Given the description of an element on the screen output the (x, y) to click on. 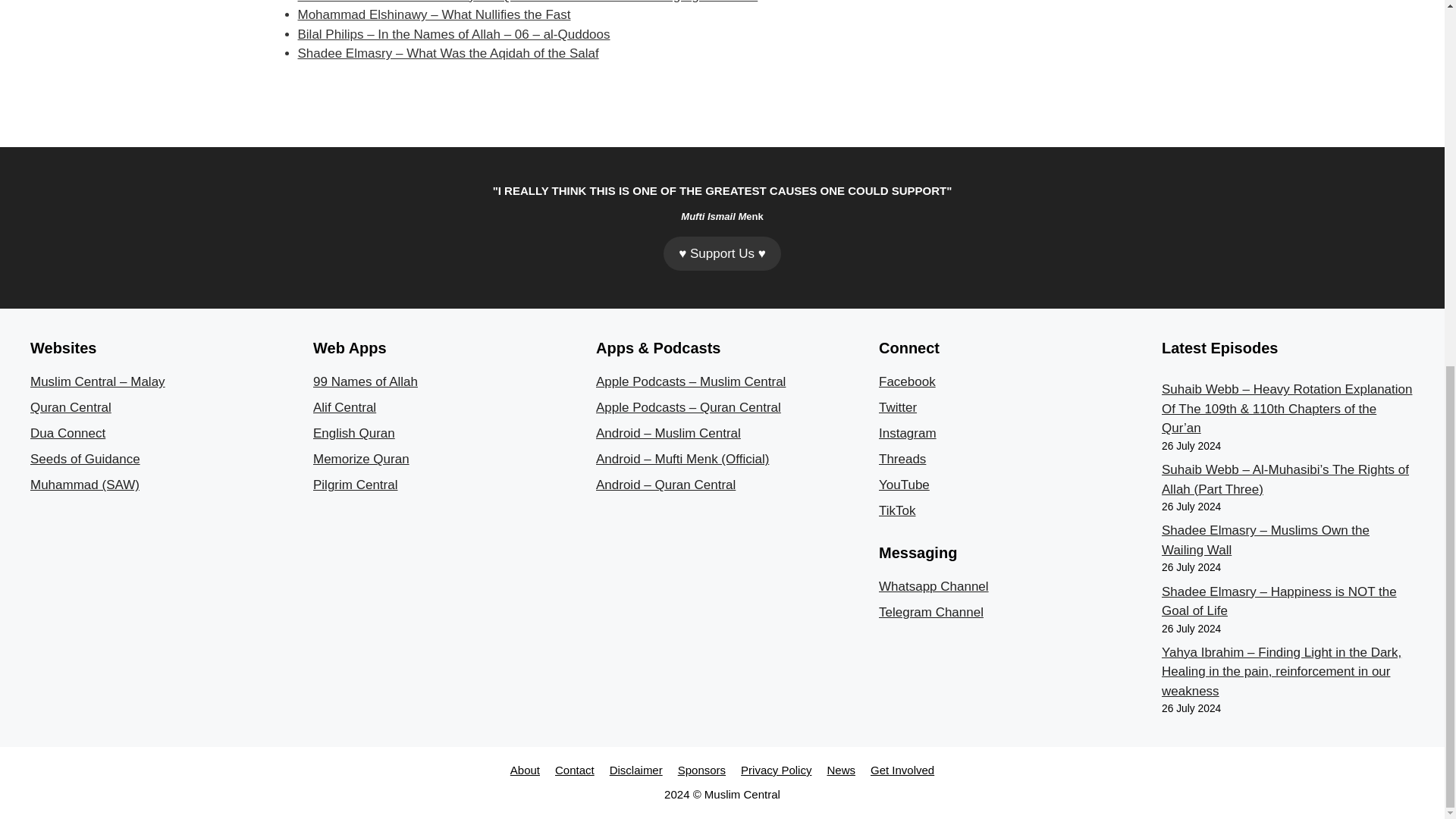
English Quran (353, 432)
Memorize Quran (361, 459)
Quran Central (71, 407)
Seeds of Guidance (84, 459)
Pilgrim Central (355, 484)
99 Names of Allah (365, 381)
Dua Connect (67, 432)
Alif Central (344, 407)
